Given the description of an element on the screen output the (x, y) to click on. 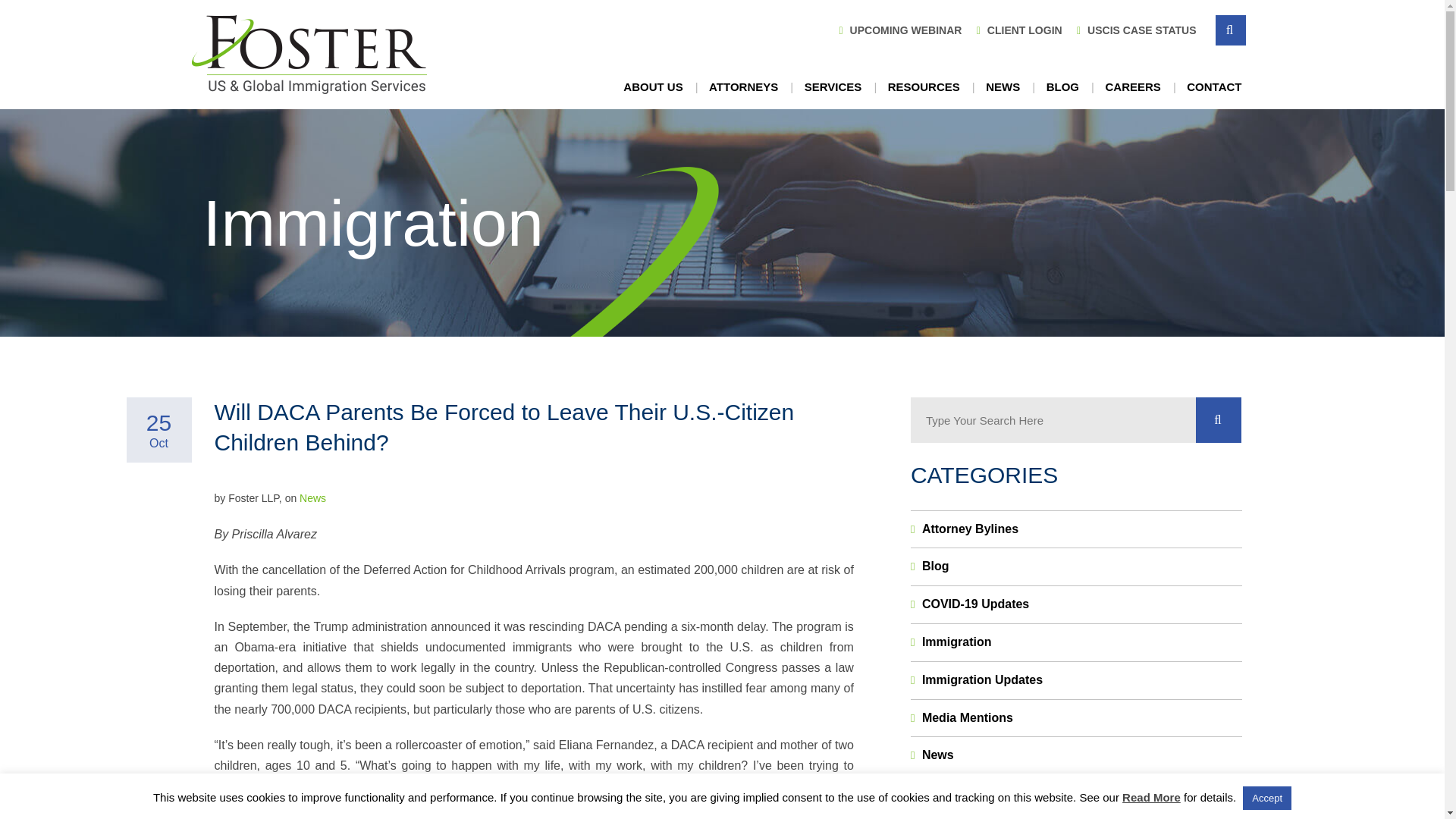
BLOG (1062, 87)
CONTACT (1214, 87)
NEWS (1003, 87)
SERVICES (833, 87)
RESOURCES (923, 87)
CAREERS (1131, 87)
ATTORNEYS (743, 87)
ABOUT US (652, 87)
